Given the description of an element on the screen output the (x, y) to click on. 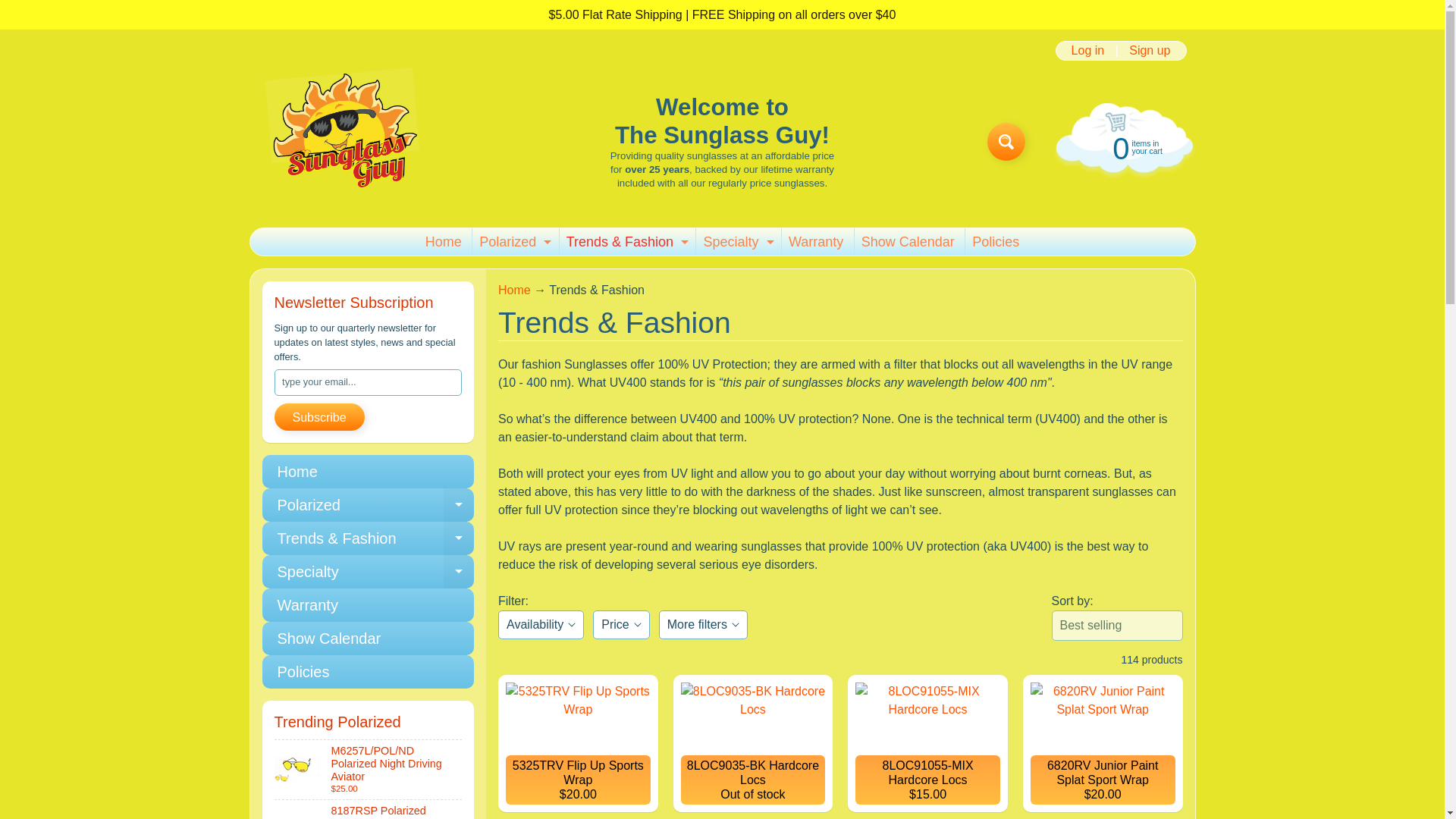
Skip to content (22, 8)
Home (443, 241)
Back to the home page (514, 289)
5325TRV Flip Up Sports Wrap (577, 743)
Search (1006, 141)
8187RSP Polarized Woman's Rhinestone Wrap (369, 809)
The Sunglass Guy (343, 141)
Show Calendar (907, 241)
Warranty (815, 241)
Search (736, 241)
Policies (512, 241)
Log in (1122, 146)
